Given the description of an element on the screen output the (x, y) to click on. 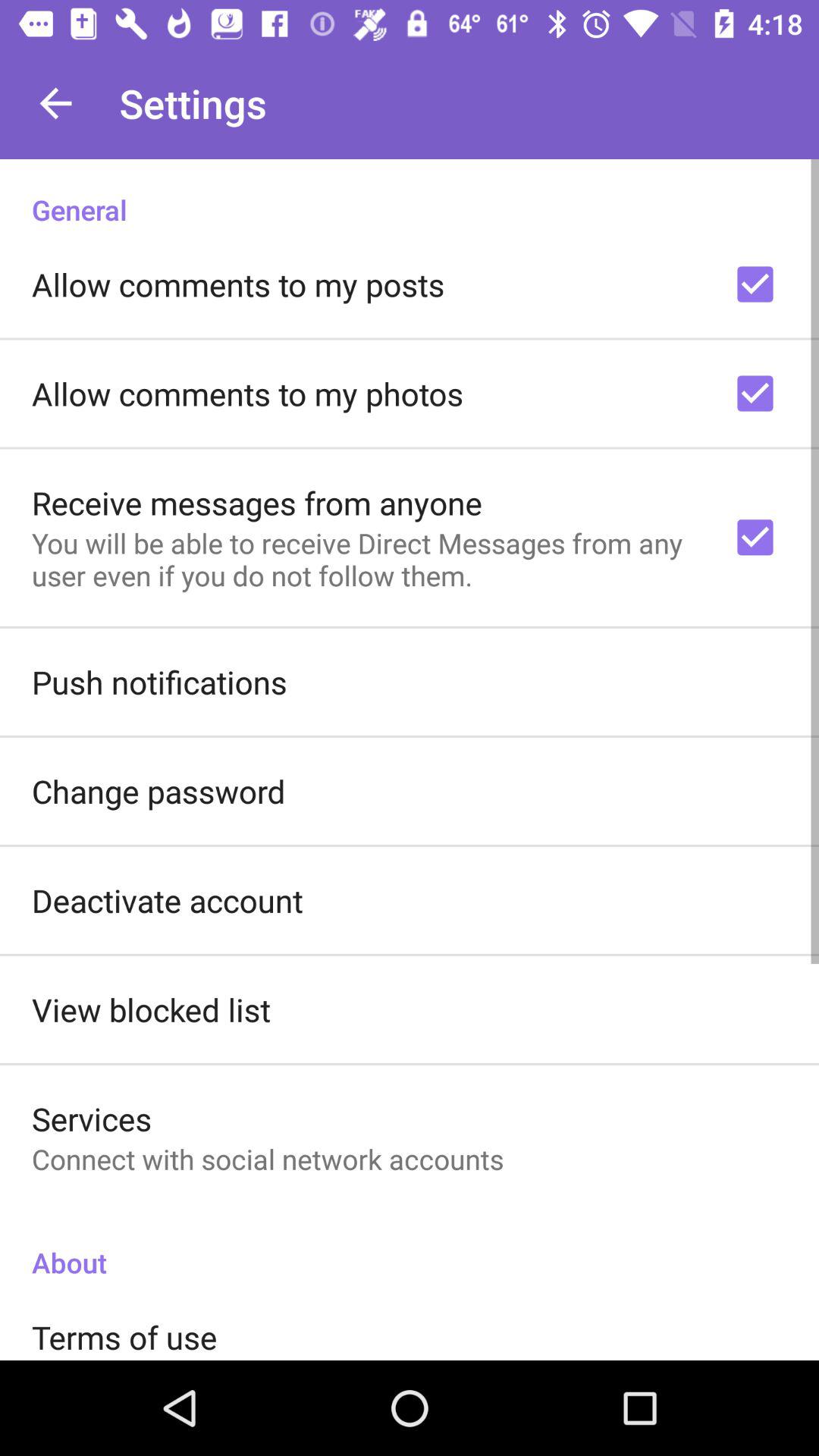
turn off icon above connect with social icon (91, 1118)
